Given the description of an element on the screen output the (x, y) to click on. 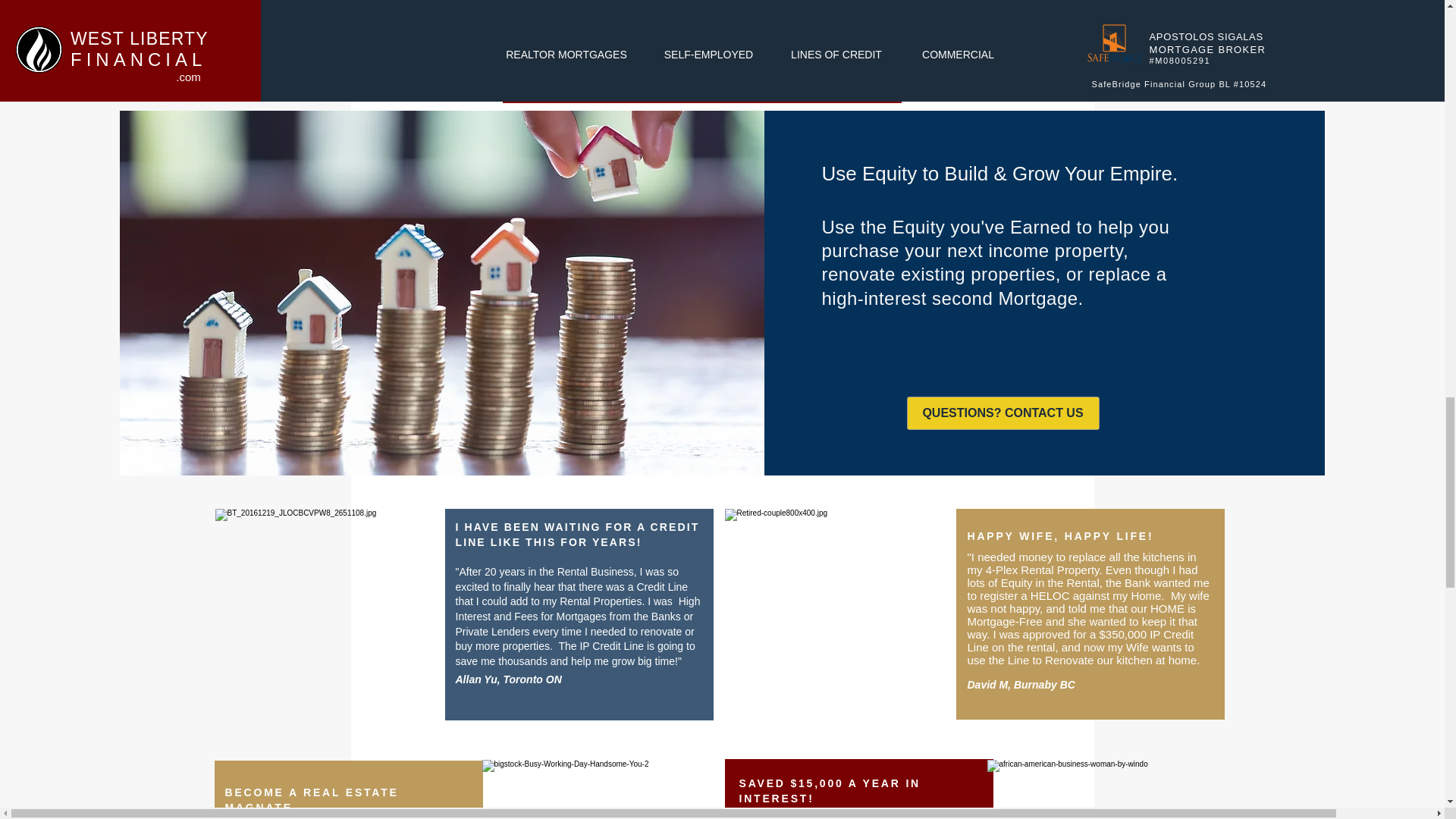
QUESTIONS? CONTACT US (1003, 412)
Download Application Form (701, 83)
Download Product Sheet (701, 21)
